Given the description of an element on the screen output the (x, y) to click on. 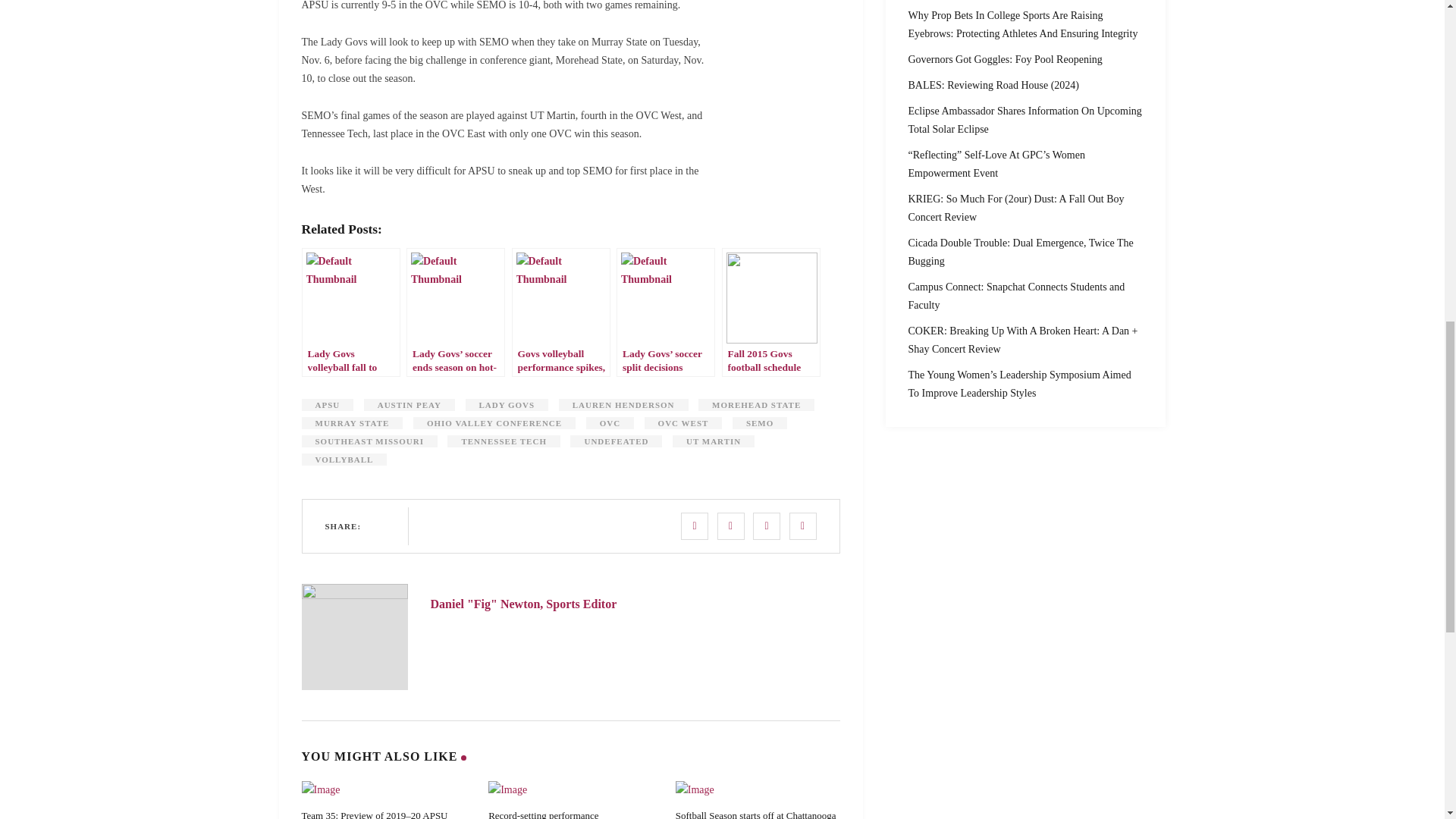
MOREHEAD STATE (755, 404)
LADY GOVS (506, 404)
LAUREN HENDERSON (623, 404)
APSU (327, 404)
MURRAY STATE (352, 422)
OVC (609, 422)
OHIO VALLEY CONFERENCE (494, 422)
OVC WEST (683, 422)
AUSTIN PEAY (409, 404)
